Given the description of an element on the screen output the (x, y) to click on. 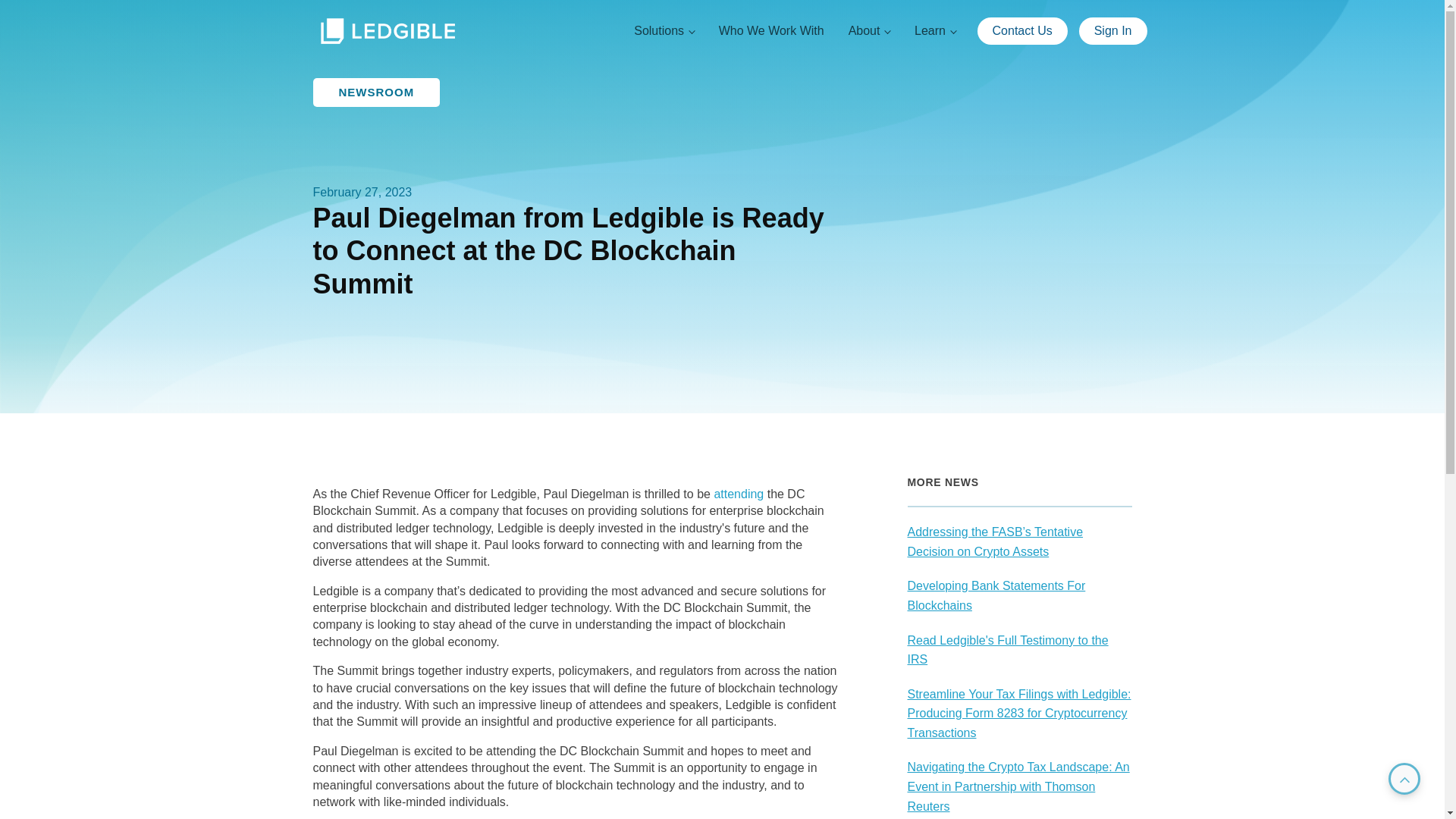
Solutions (663, 30)
About (868, 30)
Who We Work With (770, 30)
Sign In (1112, 31)
Learn (935, 30)
Contact Us (1021, 31)
